Given the description of an element on the screen output the (x, y) to click on. 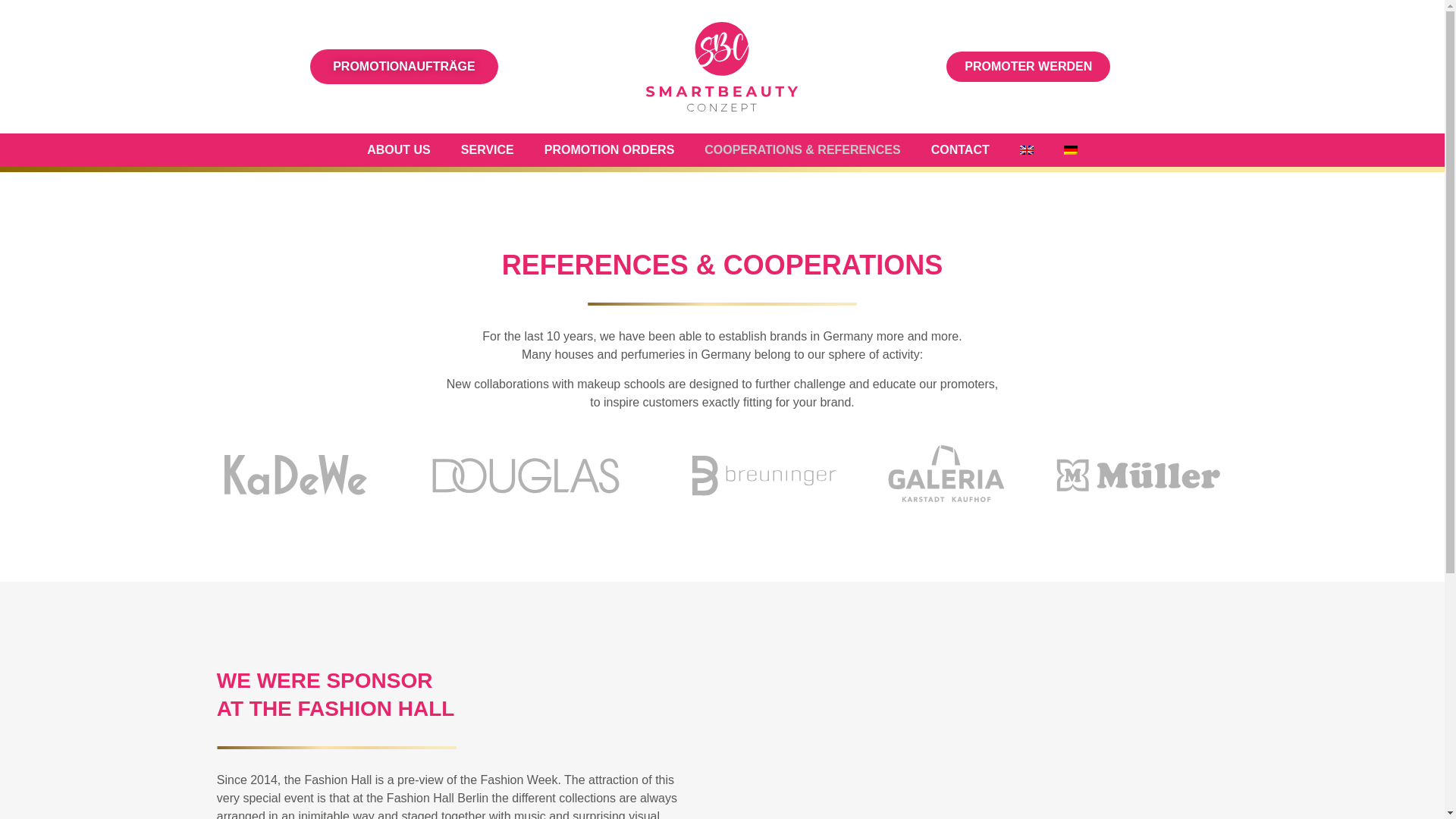
CONTACT (959, 150)
PROMOTER WERDEN (1027, 66)
SERVICE (487, 150)
ABOUT US (398, 150)
PROMOTION ORDERS (609, 150)
